Given the description of an element on the screen output the (x, y) to click on. 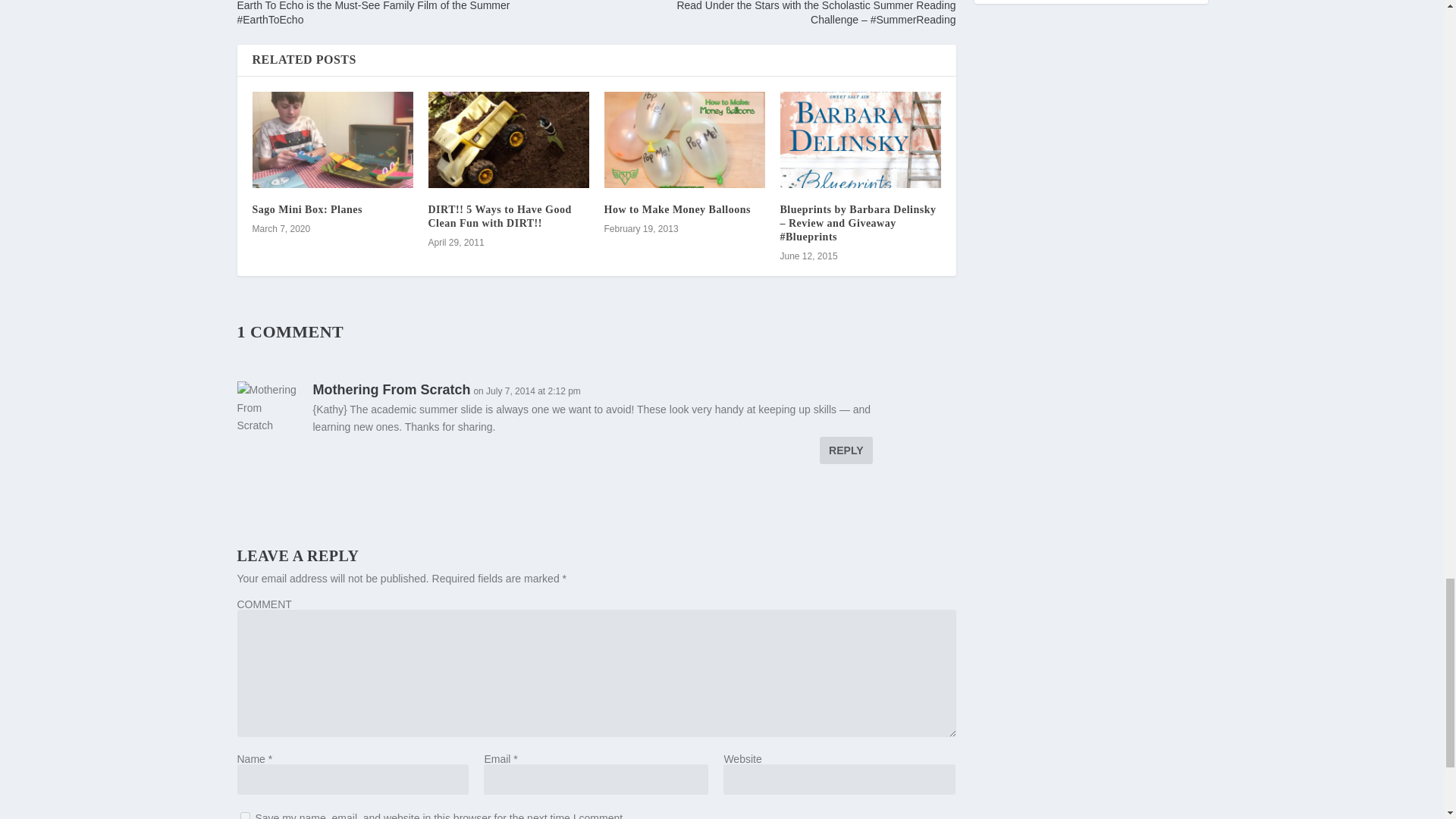
Sago Mini Box: Planes (331, 139)
yes (244, 815)
DIRT!! 5 Ways to Have Good Clean Fun with DIRT!! (508, 139)
